Given the description of an element on the screen output the (x, y) to click on. 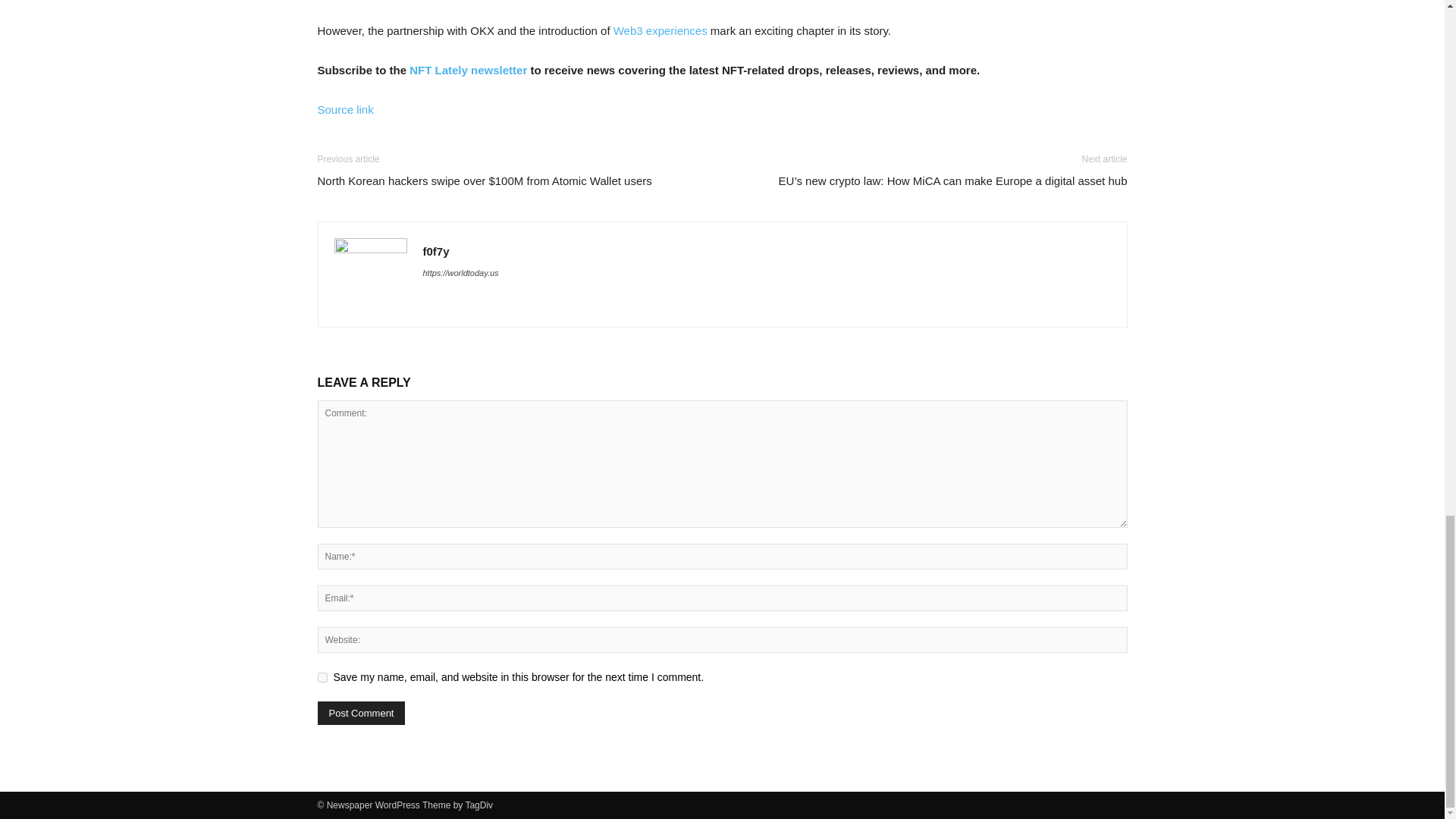
f0f7y (436, 250)
Post Comment (360, 712)
Source link (344, 109)
 NFT Lately newsletter (466, 69)
yes (321, 677)
Post Comment (360, 712)
Web3 experiences (659, 30)
